Given the description of an element on the screen output the (x, y) to click on. 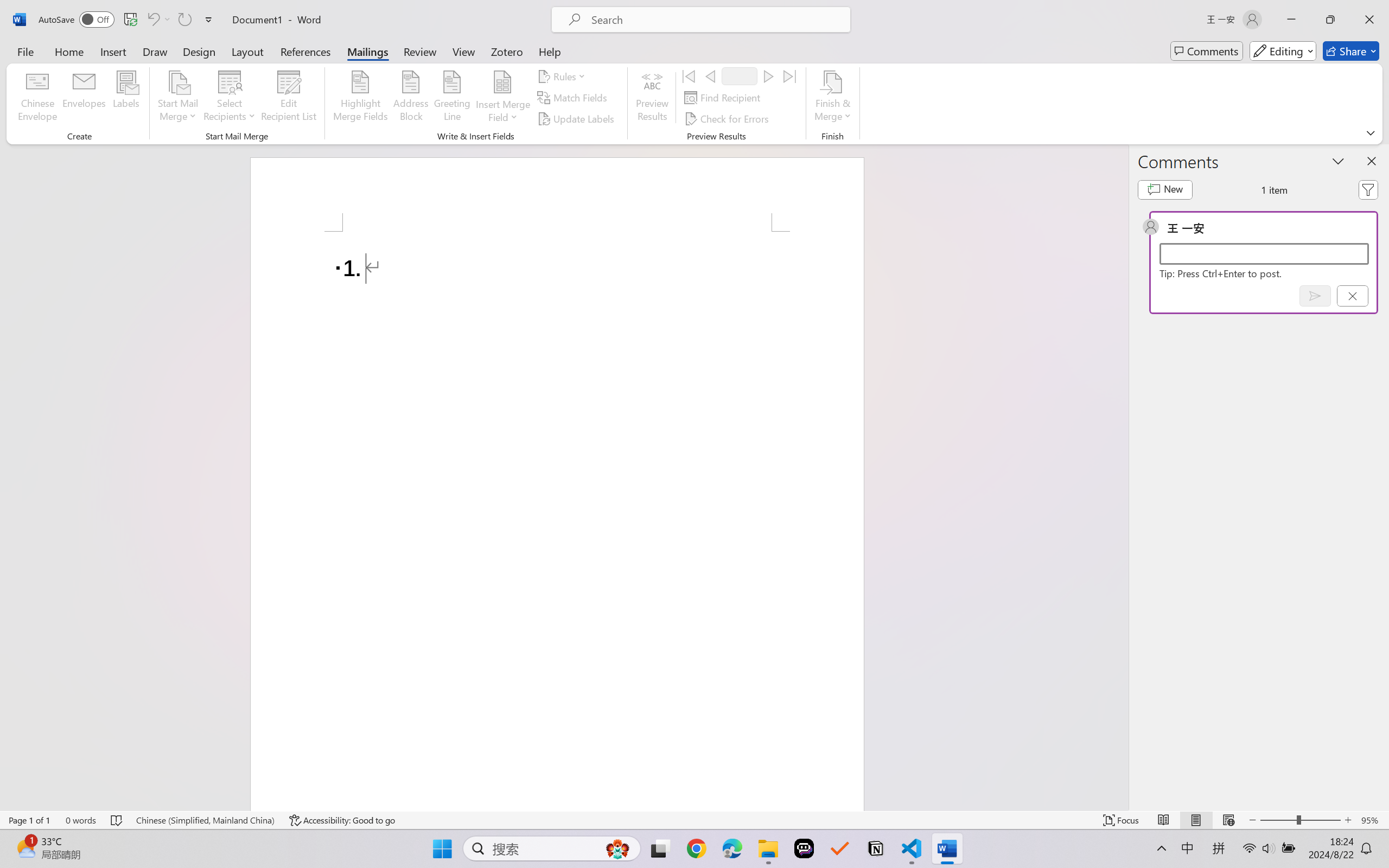
Connector: Elbow (539, 60)
Quick Styles (625, 62)
Paragraph... (502, 91)
Shape Outline (669, 60)
Arrange (600, 62)
